Given the description of an element on the screen output the (x, y) to click on. 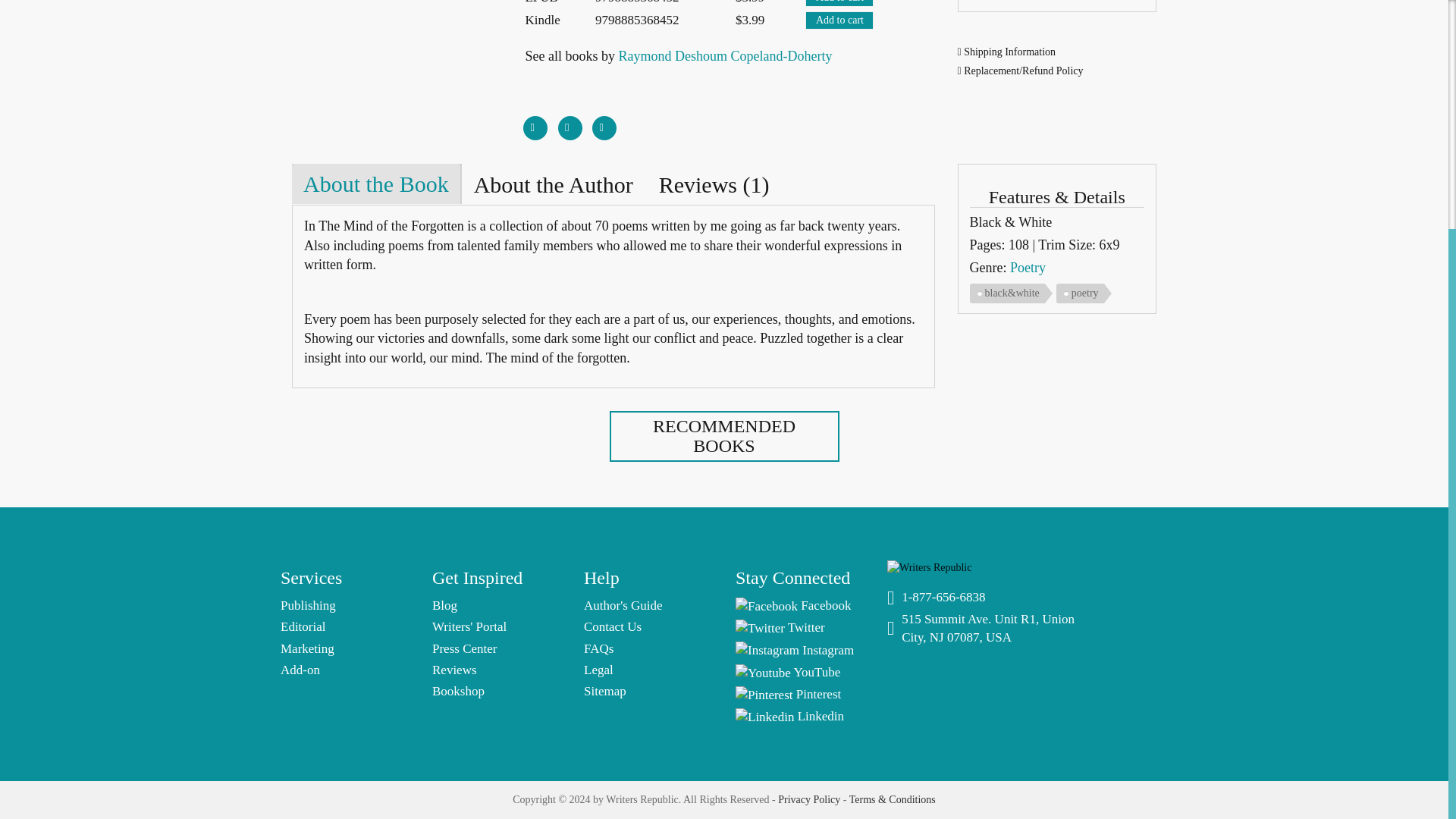
Blog (444, 605)
Poetry (1027, 267)
Editorial (302, 626)
Add-on (300, 669)
Pinterest (603, 121)
Facebook (534, 121)
Twitter (569, 121)
Publishing (308, 605)
Marketing (307, 648)
